Given the description of an element on the screen output the (x, y) to click on. 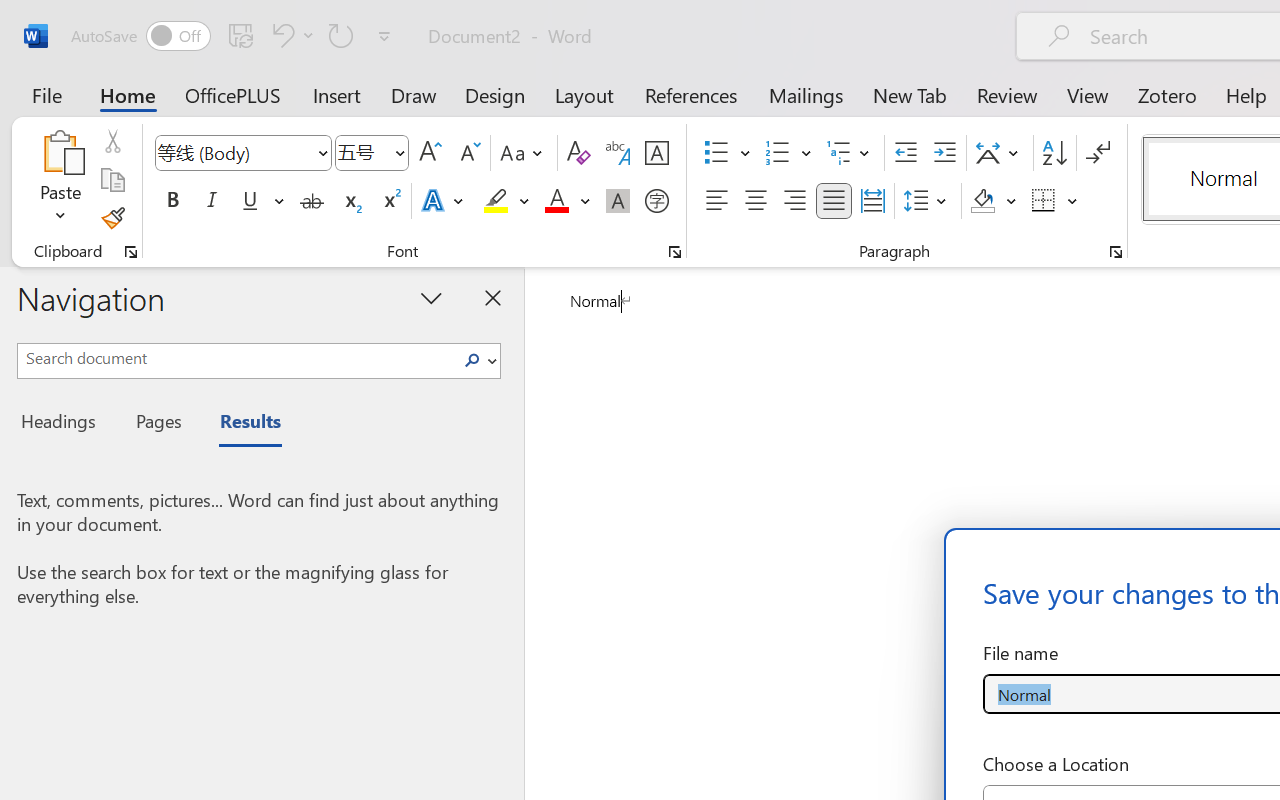
Quick Access Toolbar (233, 36)
Undo Apply Quick Style (290, 35)
Align Left (716, 201)
File Tab (46, 94)
Zotero (1166, 94)
Office Clipboard... (131, 252)
Save (241, 35)
Clear Formatting (578, 153)
Task Pane Options (431, 297)
Enclose Characters... (656, 201)
Font Color (567, 201)
Pages (156, 424)
